Given the description of an element on the screen output the (x, y) to click on. 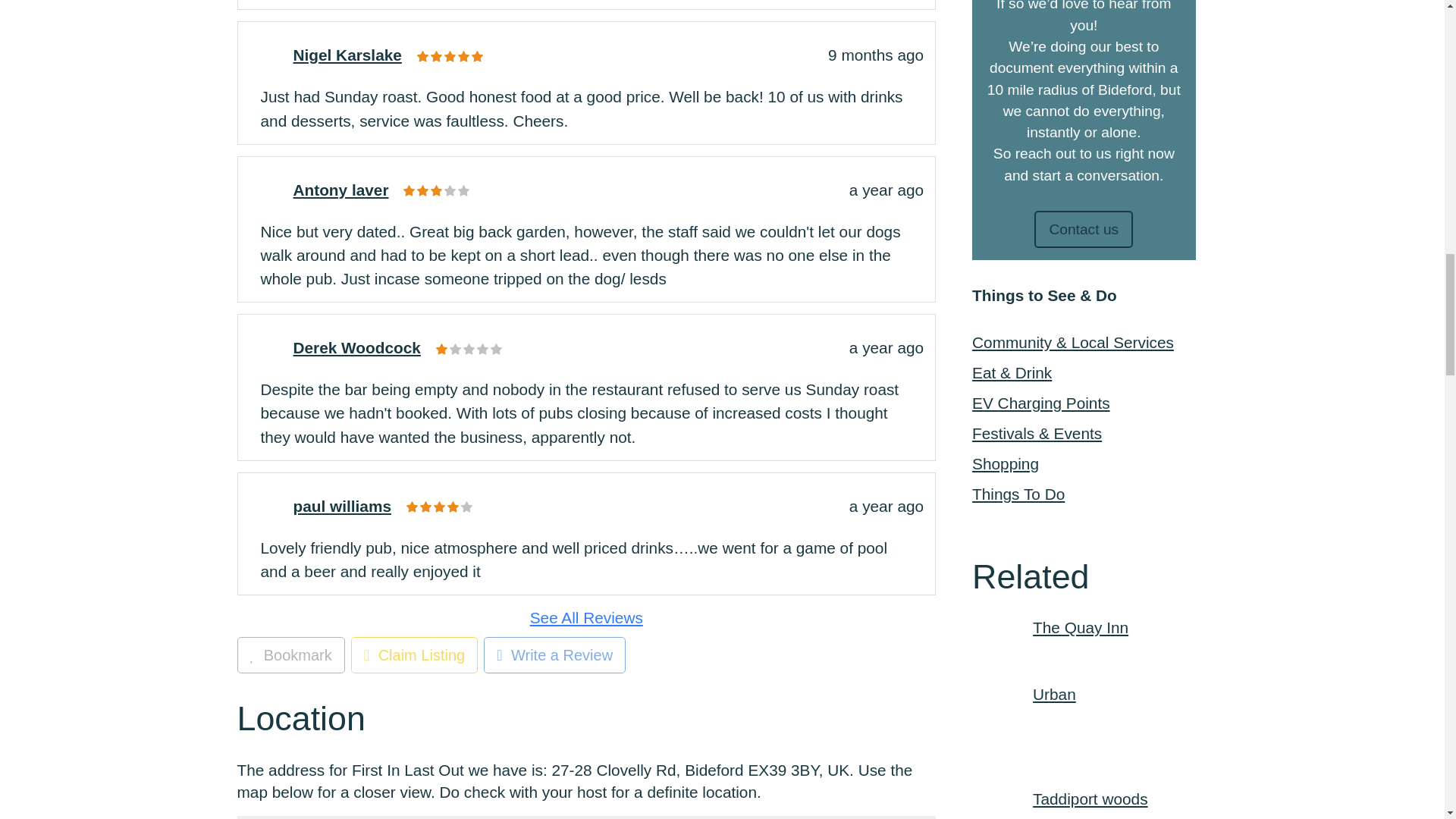
Antony laver avatar (266, 186)
Nigel Karslake avatar (266, 51)
paul williams avatar (266, 502)
Derek Woodcock avatar (266, 343)
